Given the description of an element on the screen output the (x, y) to click on. 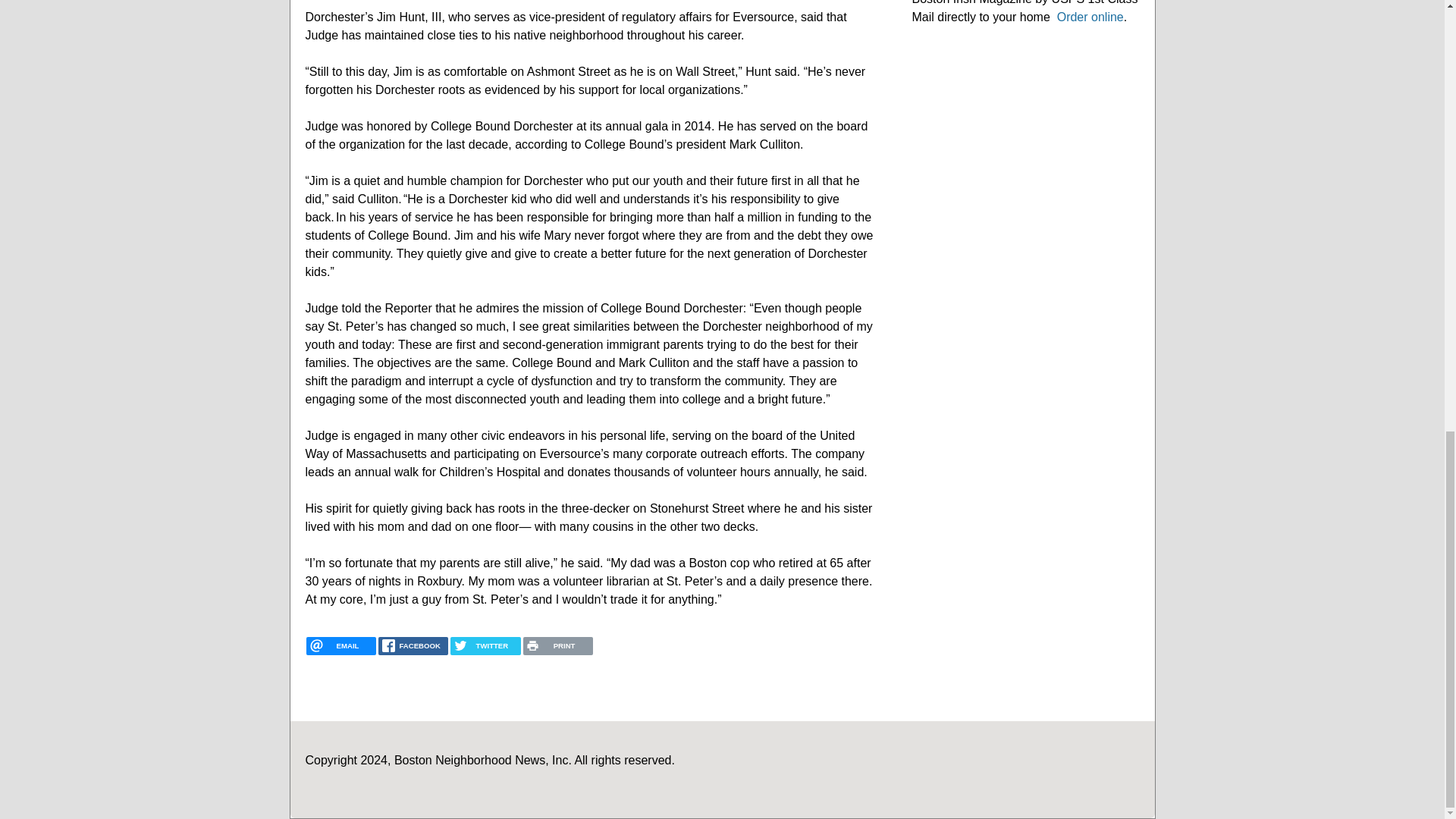
Order online (1090, 16)
PRINT (557, 646)
TWITTER (484, 646)
FACEBOOK (413, 646)
EMAIL (340, 646)
